Given the description of an element on the screen output the (x, y) to click on. 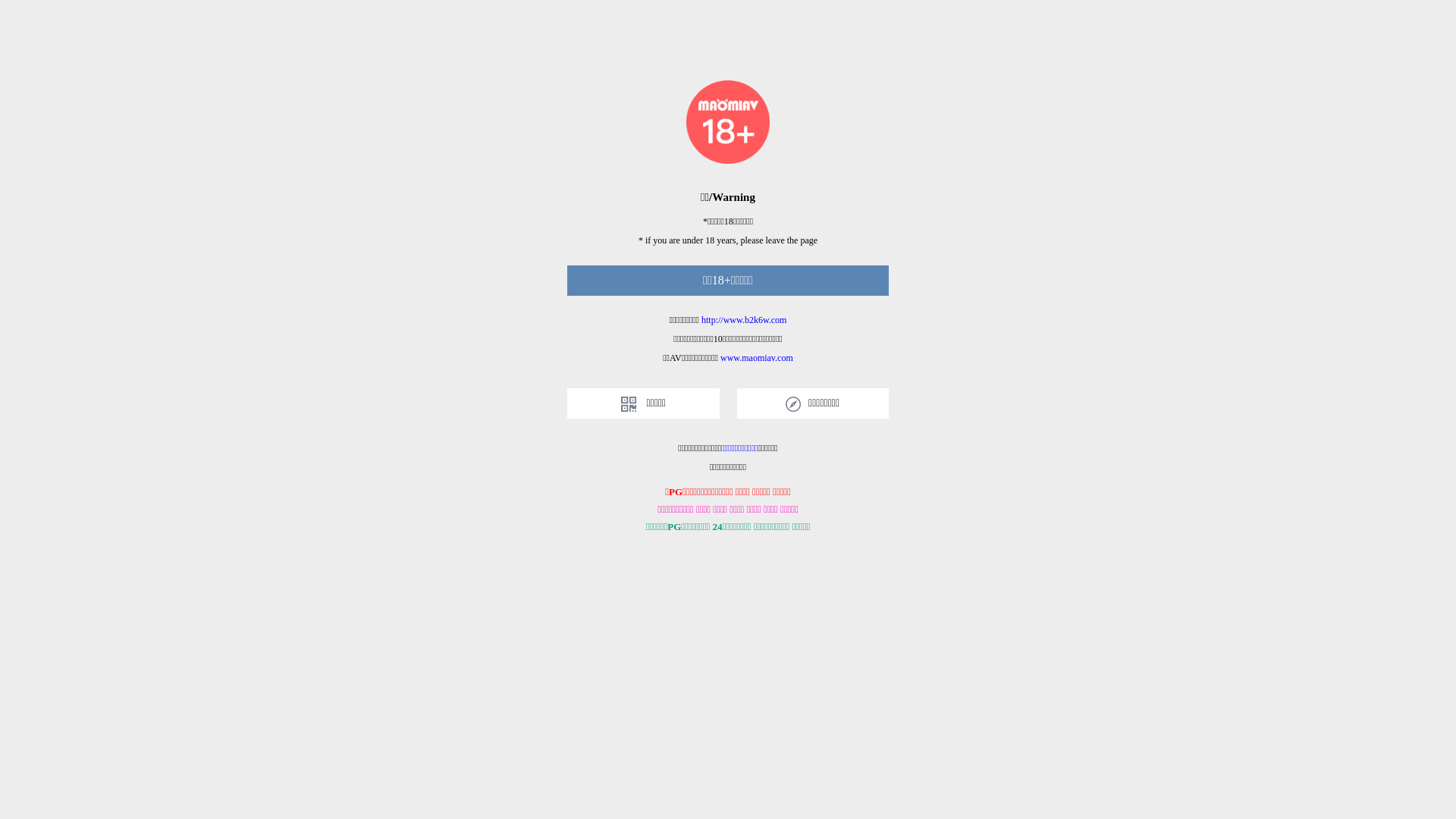
http://www.b2k6w.com Element type: text (743, 319)
www.maomiav.com Element type: text (756, 357)
